Given the description of an element on the screen output the (x, y) to click on. 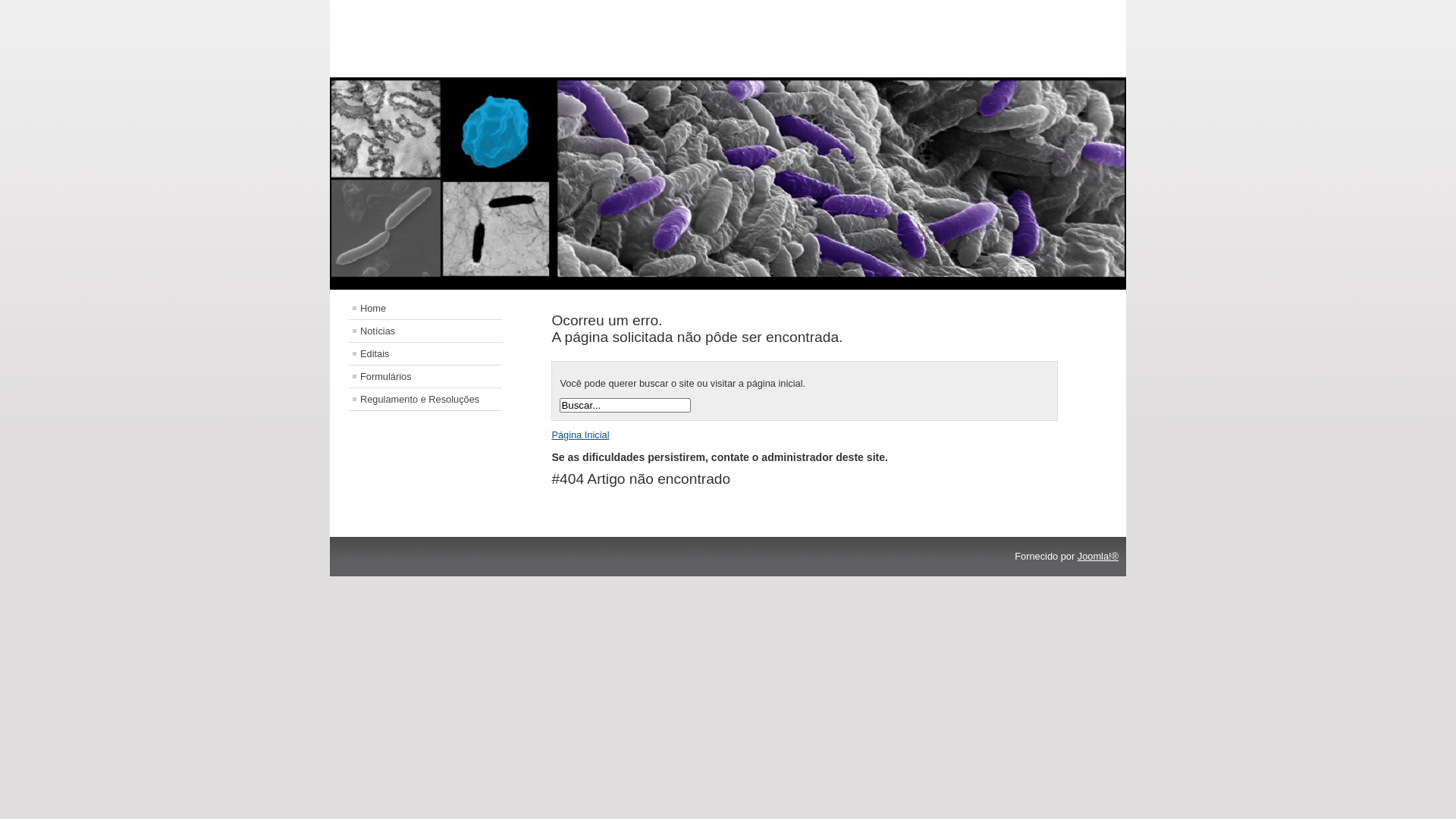
Editais Element type: text (425, 353)
Home Element type: text (425, 308)
